Given the description of an element on the screen output the (x, y) to click on. 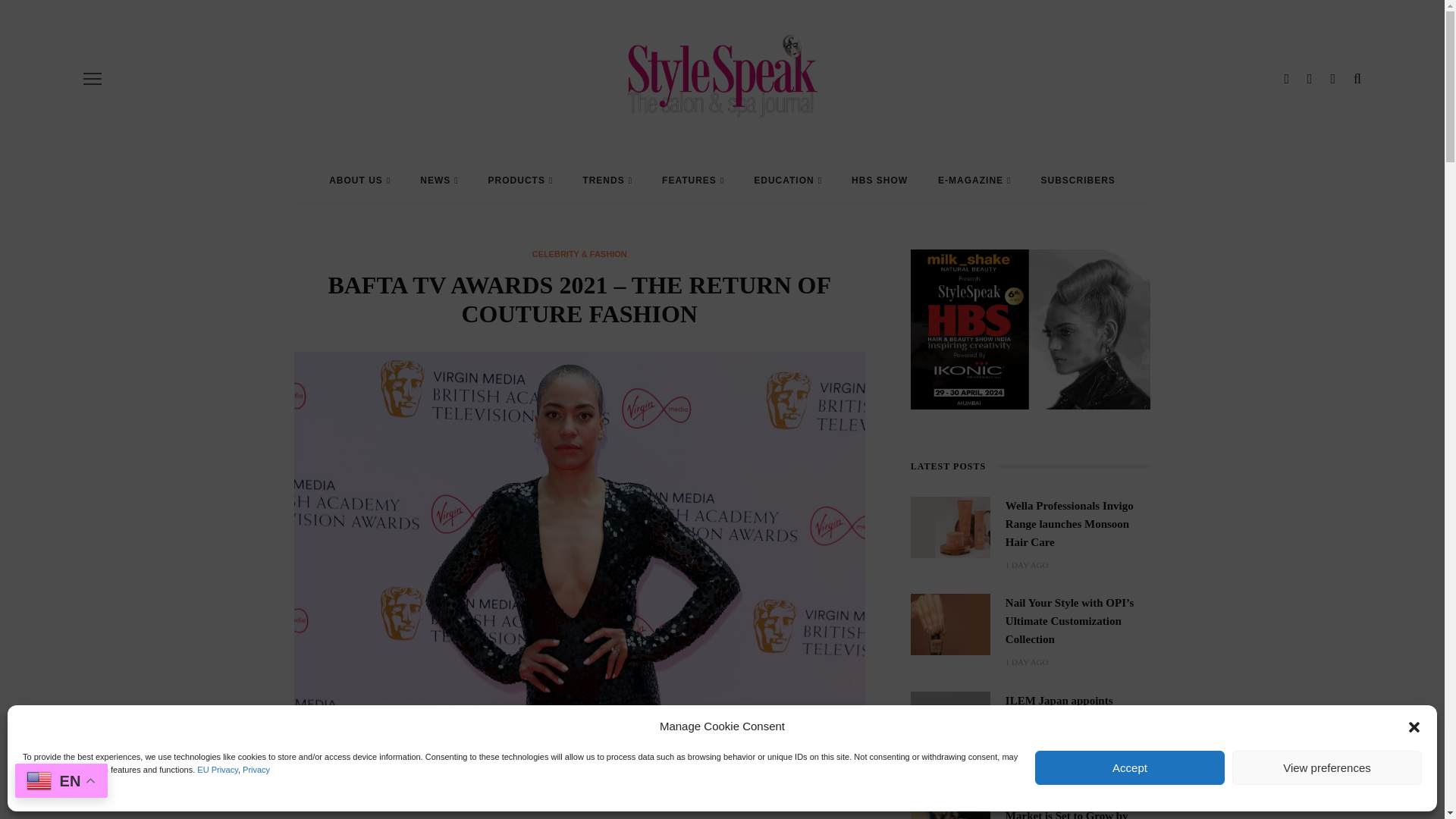
Post by StyleSpeak Admin (373, 782)
EU Privacy (217, 768)
off canvas button (91, 78)
Accept (1129, 767)
search (1356, 79)
Privacy (256, 768)
View preferences (1326, 767)
